Given the description of an element on the screen output the (x, y) to click on. 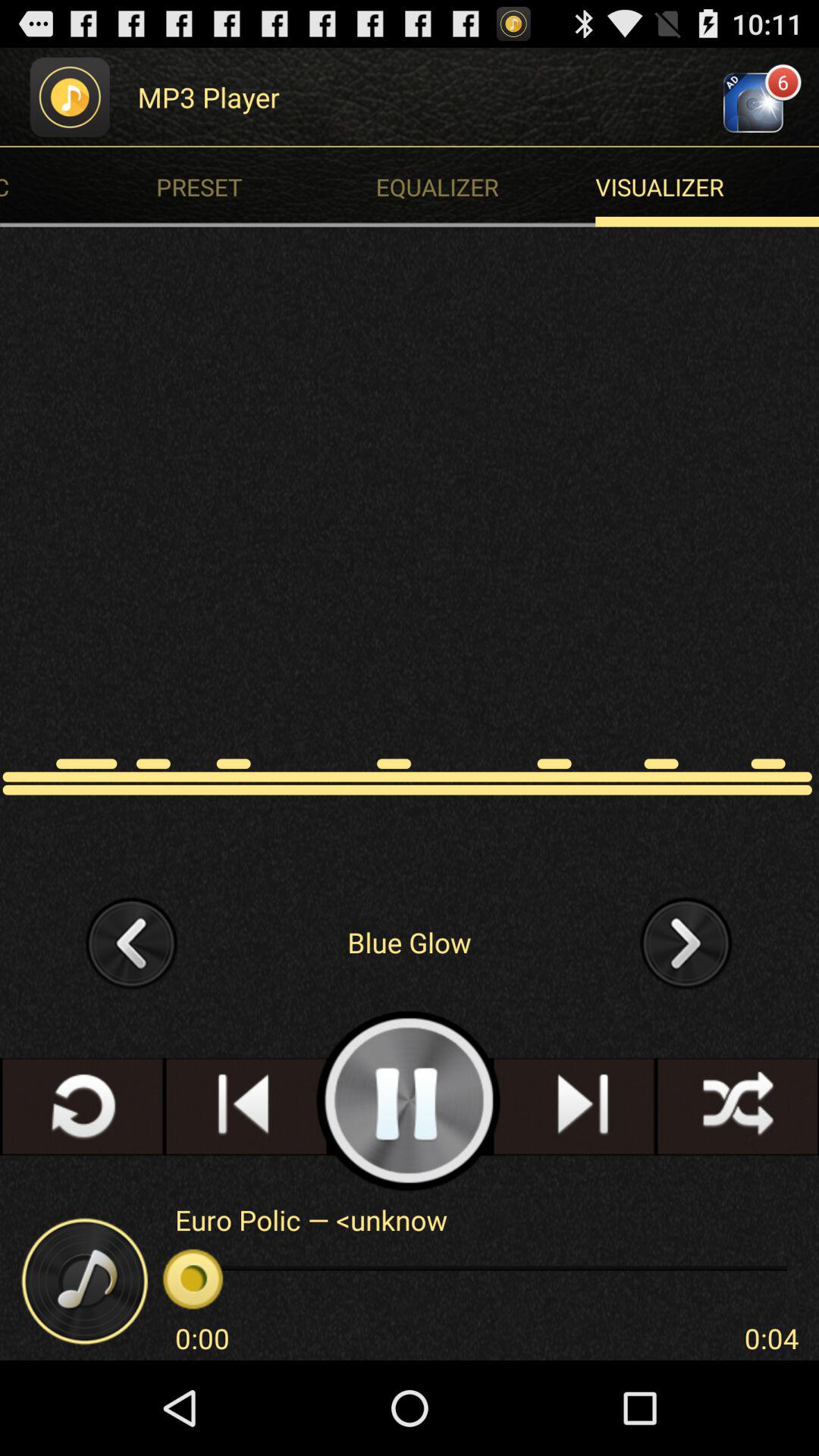
go forward (686, 941)
